Given the description of an element on the screen output the (x, y) to click on. 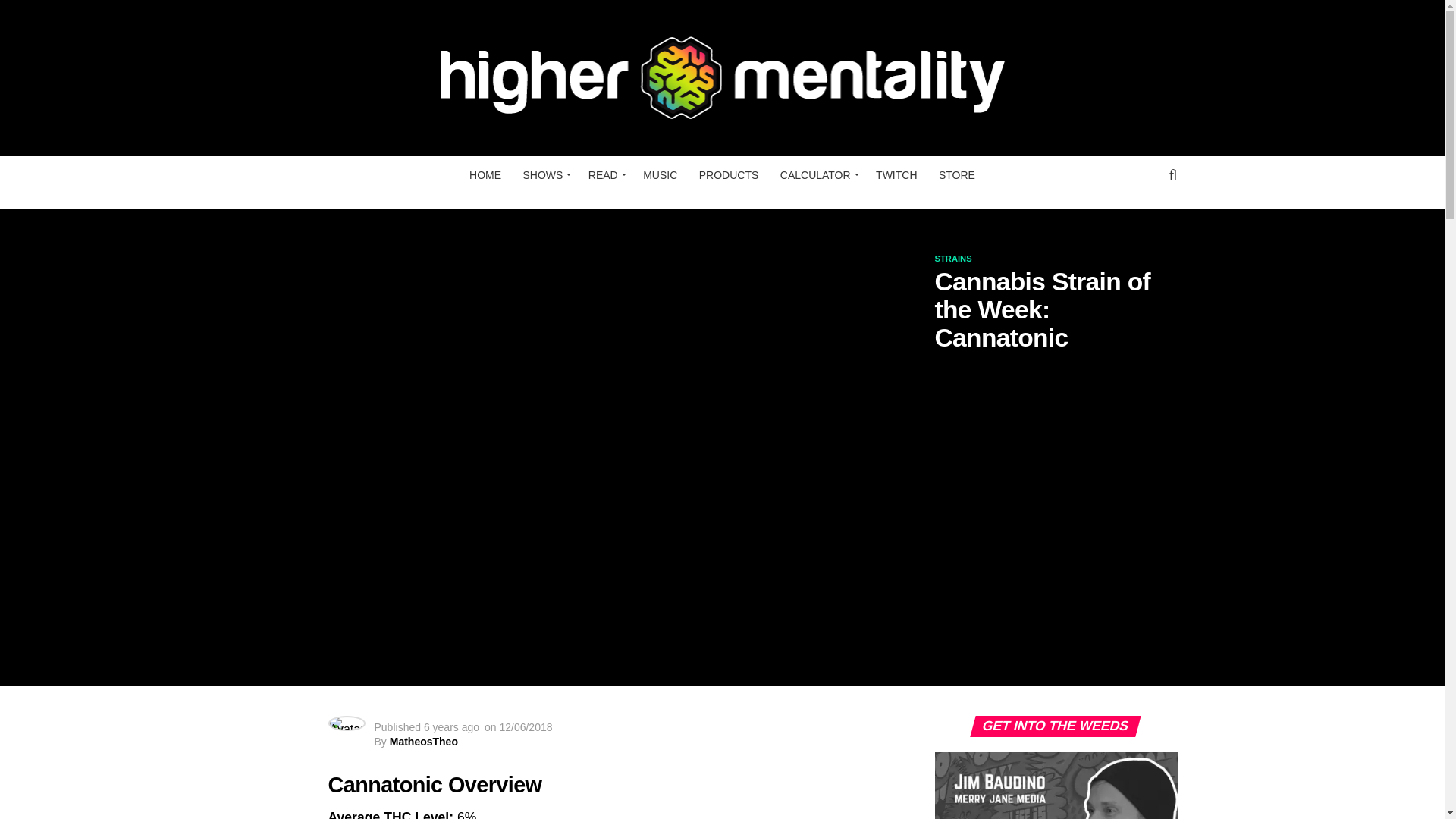
CALCULATOR (817, 175)
Posts by MatheosTheo (424, 741)
SHOWS (544, 175)
MUSIC (659, 175)
HOME (485, 175)
READ (604, 175)
PRODUCTS (729, 175)
